Given the description of an element on the screen output the (x, y) to click on. 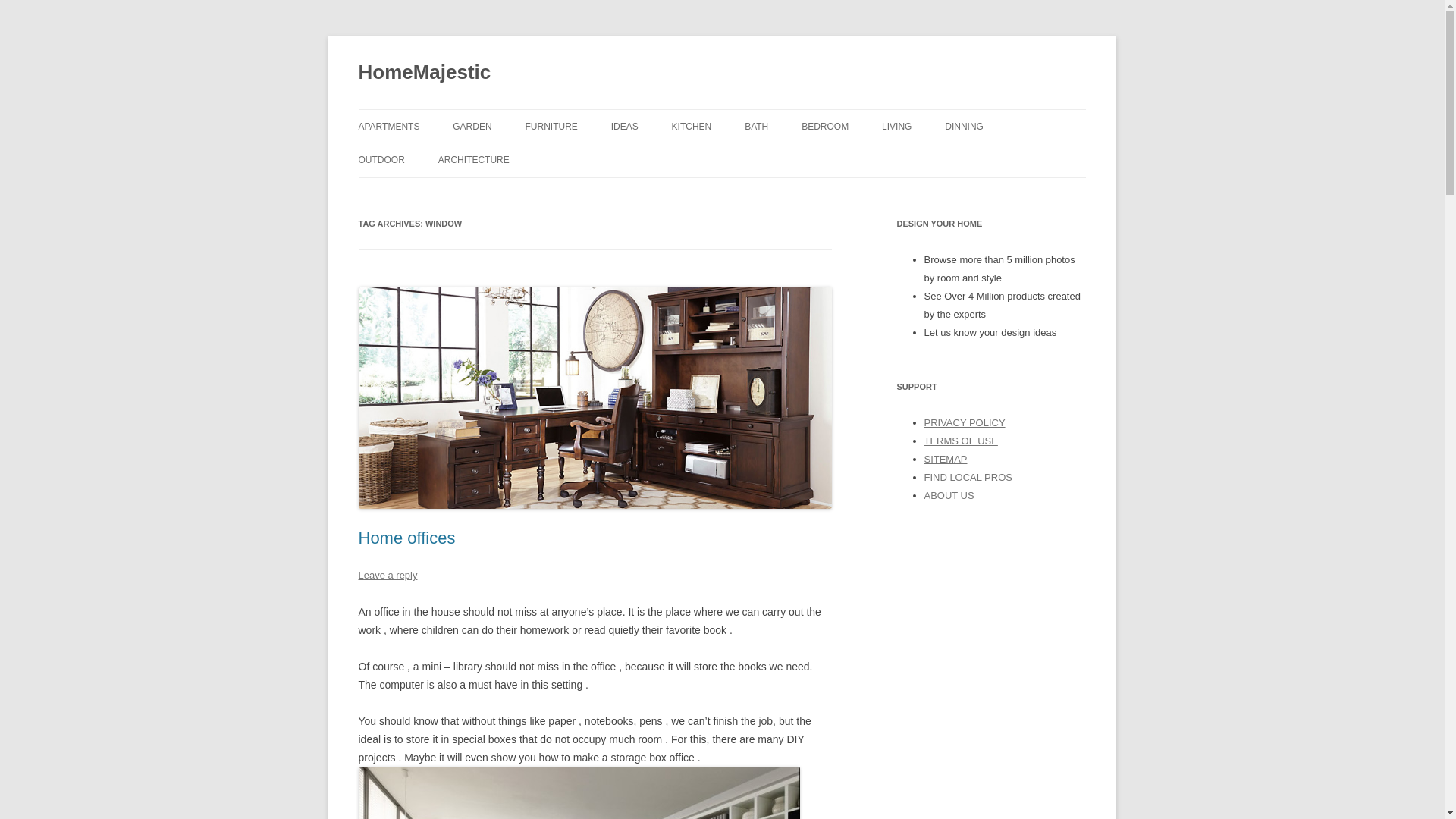
PRIVACY POLICY (963, 422)
TERMS OF USE (960, 440)
APARTMENTS (388, 126)
Leave a reply (387, 574)
BEDROOM (825, 126)
KITCHEN (691, 126)
HomeMajestic (424, 72)
FIND LOCAL PROS (967, 477)
OUTDOOR (381, 159)
